Given the description of an element on the screen output the (x, y) to click on. 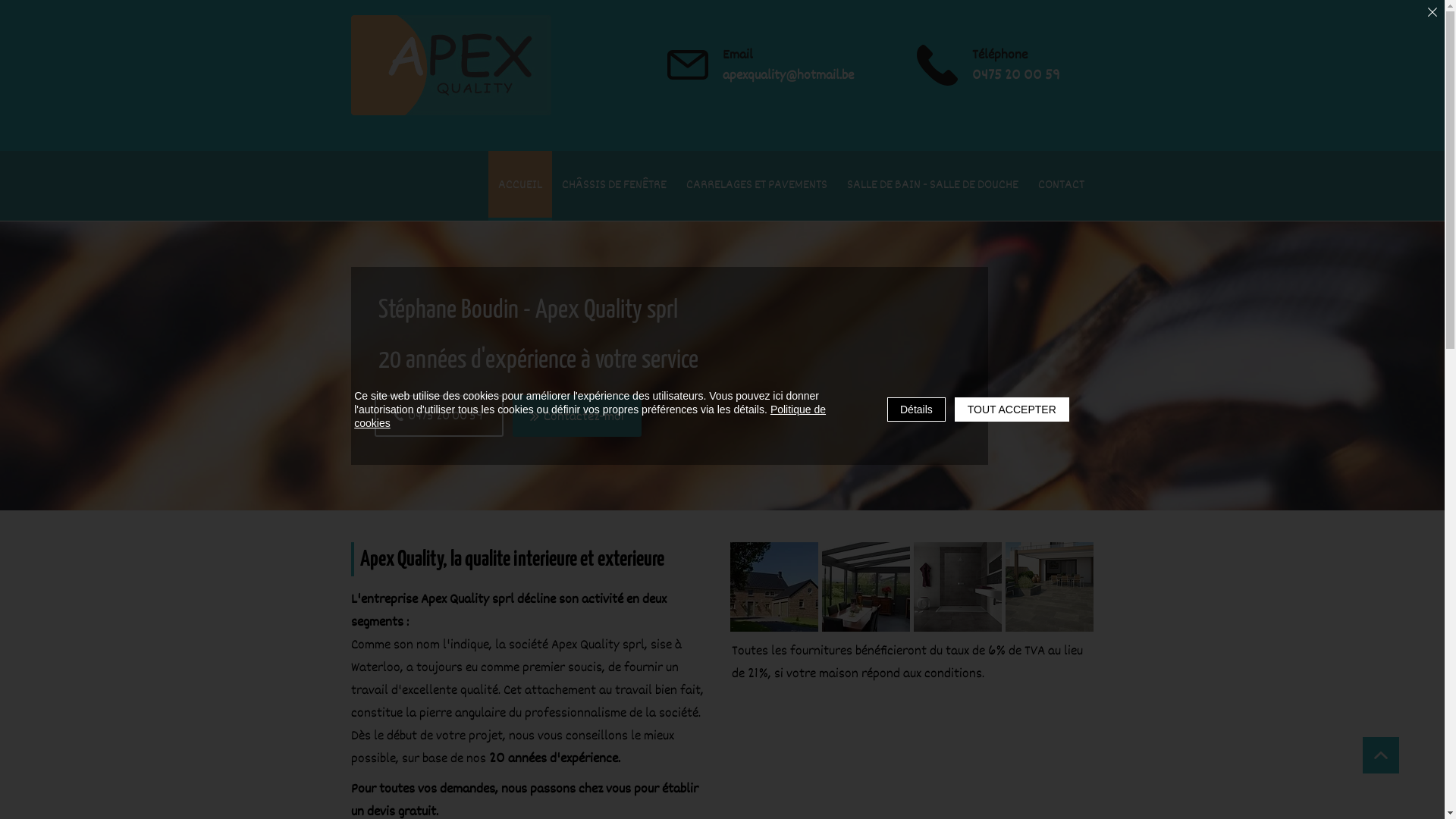
CARRELAGES ET PAVEMENTS Element type: text (756, 185)
0475 20 00 59 Element type: text (438, 415)
0475 20 00 59 Element type: text (1016, 74)
apexquality@hotmail.be Element type: text (787, 74)
Contactez-moi Element type: text (576, 415)
ACCUEIL Element type: text (520, 185)
CONTACT Element type: text (1061, 185)
TOUT ACCEPTER Element type: text (1011, 409)
Apex Quality Element type: hover (450, 65)
Politique de cookies Element type: text (589, 416)
SALLE DE BAIN - SALLE DE DOUCHE Element type: text (932, 185)
